Given the description of an element on the screen output the (x, y) to click on. 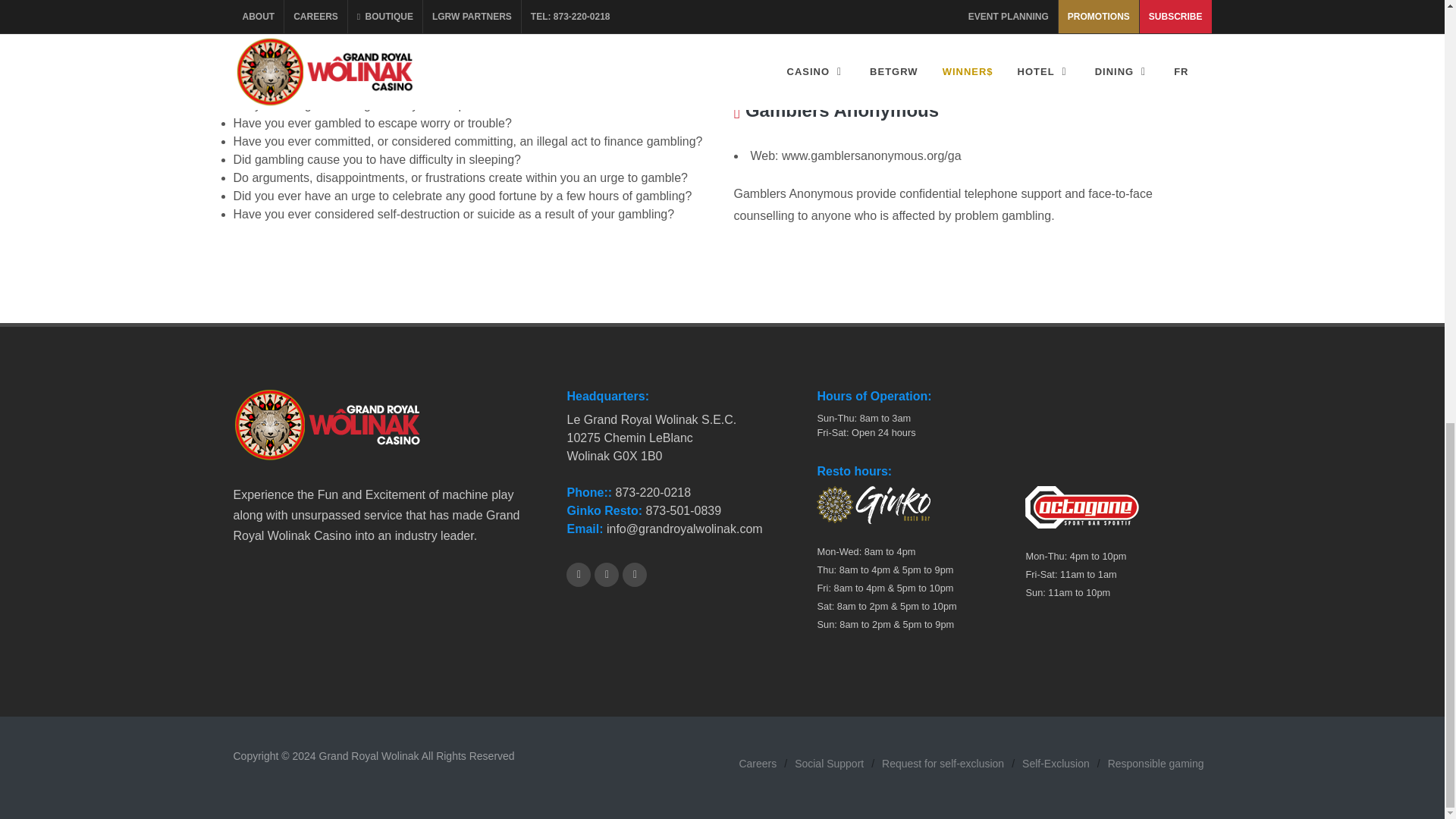
Hours (853, 471)
Email Address (584, 528)
Hours (873, 396)
Phone Number (590, 492)
Ginko Resto (604, 510)
Headquarters (606, 396)
